Given the description of an element on the screen output the (x, y) to click on. 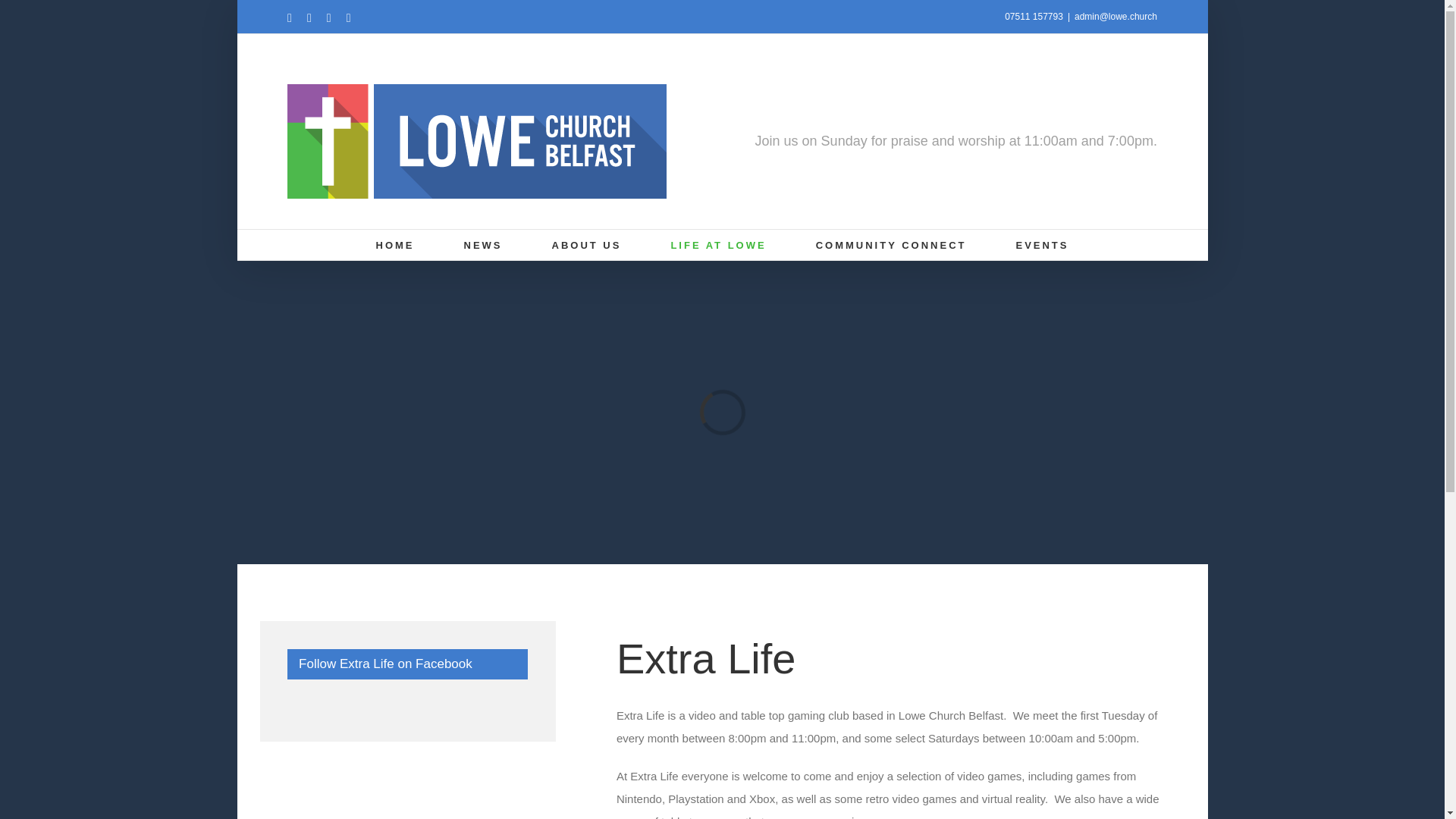
NEWS (483, 245)
HOME (394, 245)
COMMUNITY CONNECT (890, 245)
LIFE AT LOWE (717, 245)
ABOUT US (586, 245)
EVENTS (1041, 245)
